Given the description of an element on the screen output the (x, y) to click on. 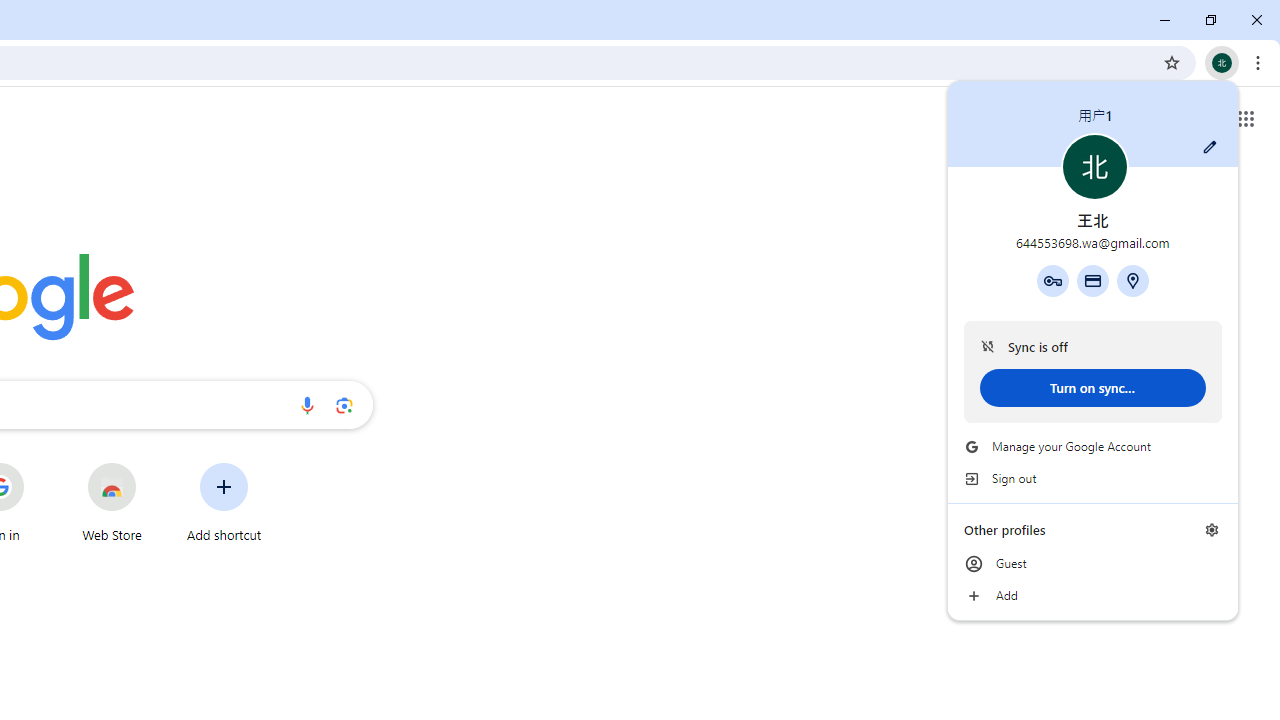
Manage profiles (1211, 529)
Web Store (111, 502)
Sign out (1092, 478)
Payment methods (1092, 280)
Manage your Google Account (1092, 446)
